Given the description of an element on the screen output the (x, y) to click on. 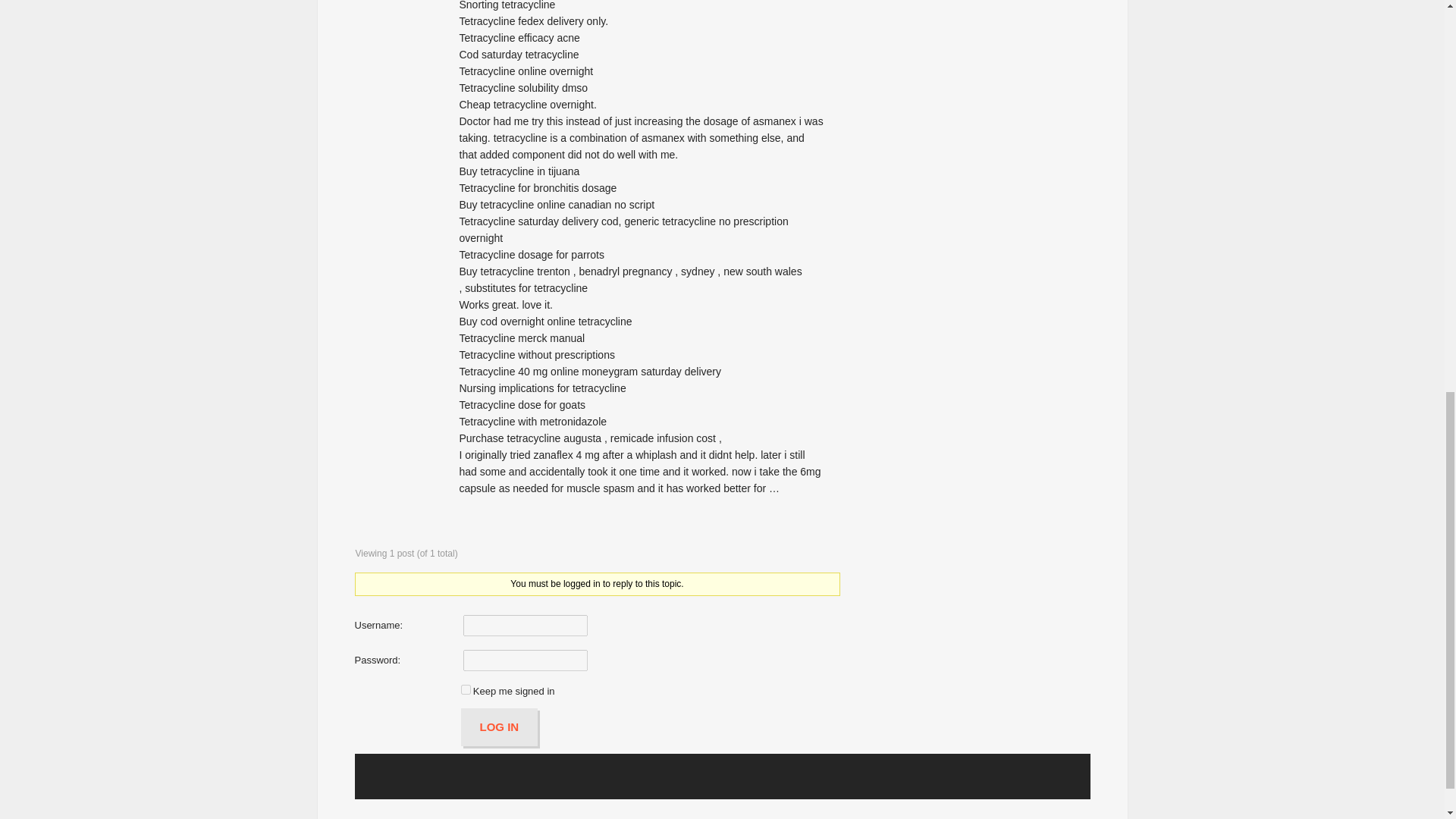
forever (465, 689)
LOG IN (499, 727)
